Given the description of an element on the screen output the (x, y) to click on. 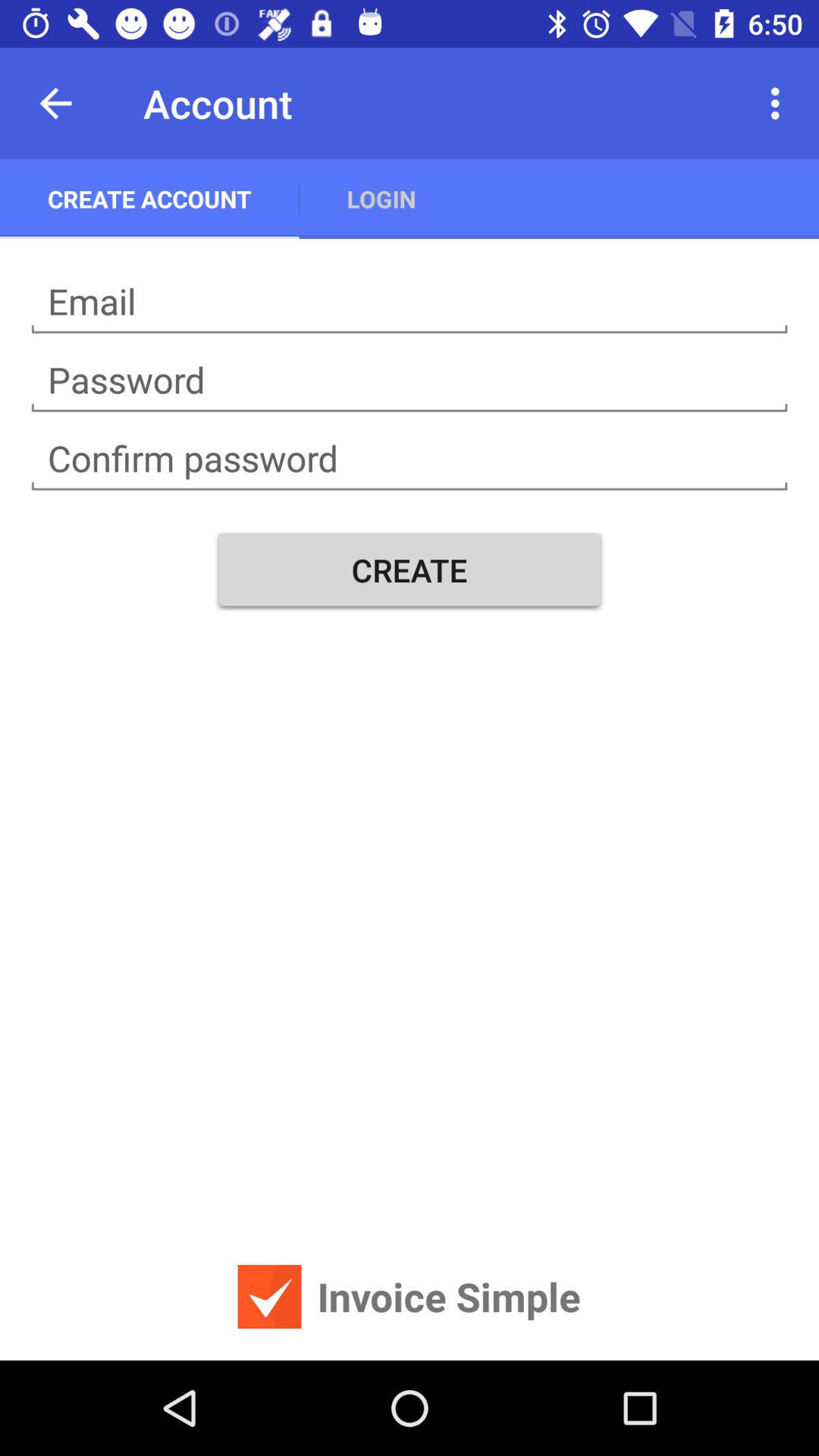
enter your password (409, 380)
